Given the description of an element on the screen output the (x, y) to click on. 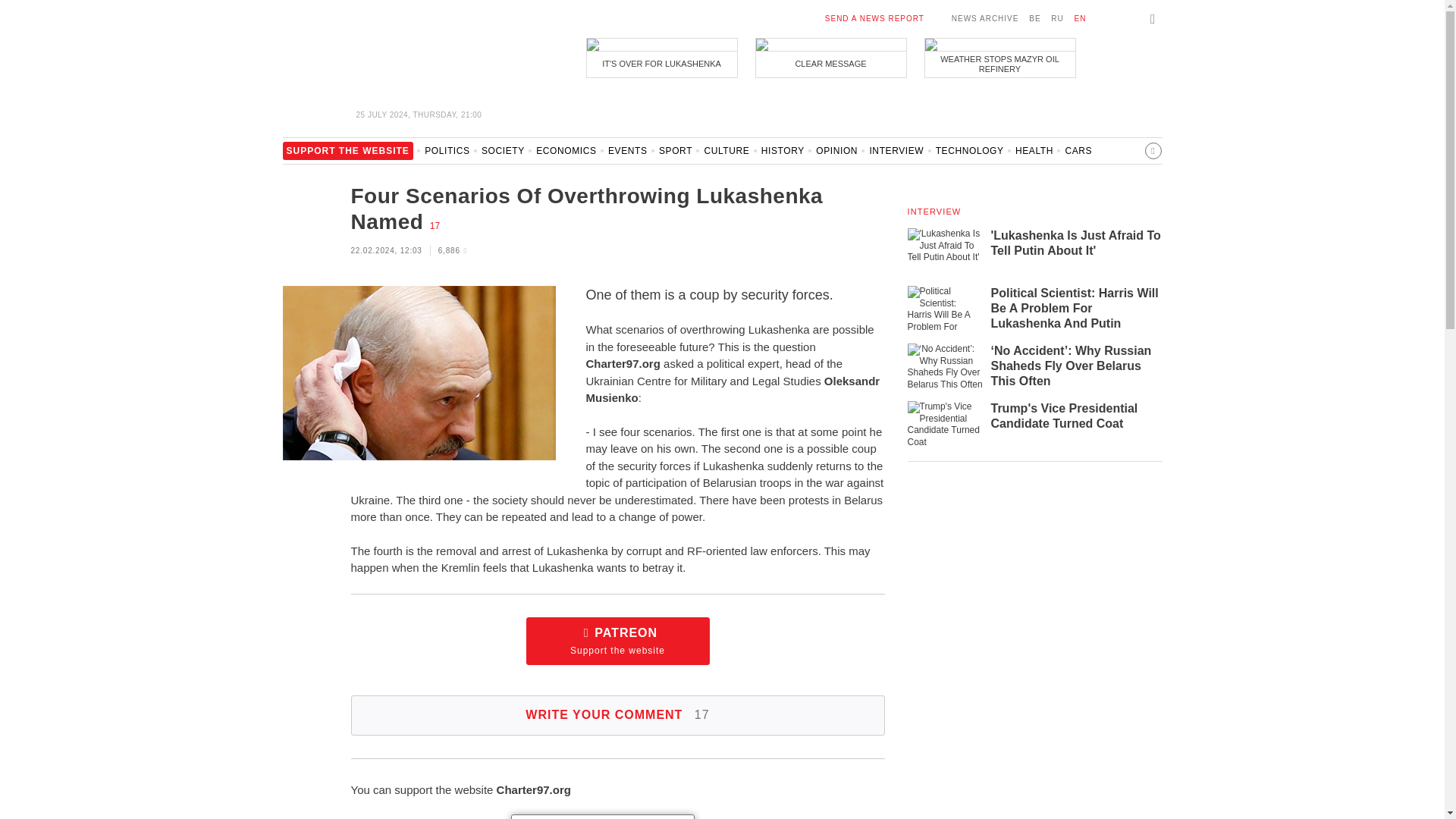
RU (1056, 18)
OPINION (836, 155)
INTERVIEW (896, 155)
NEWS ARCHIVE (985, 18)
EVENTS (627, 155)
SPORT (676, 155)
SEND A NEWS REPORT (874, 18)
SUPPORT THE WEBSITE (347, 155)
IT'S OVER FOR LUKASHENKA (661, 57)
WRITE YOUR COMMENT 17 (616, 715)
HEALTH (1033, 155)
HISTORY (783, 155)
17 (434, 225)
CULTURE (726, 155)
TECHNOLOGY (970, 155)
